Given the description of an element on the screen output the (x, y) to click on. 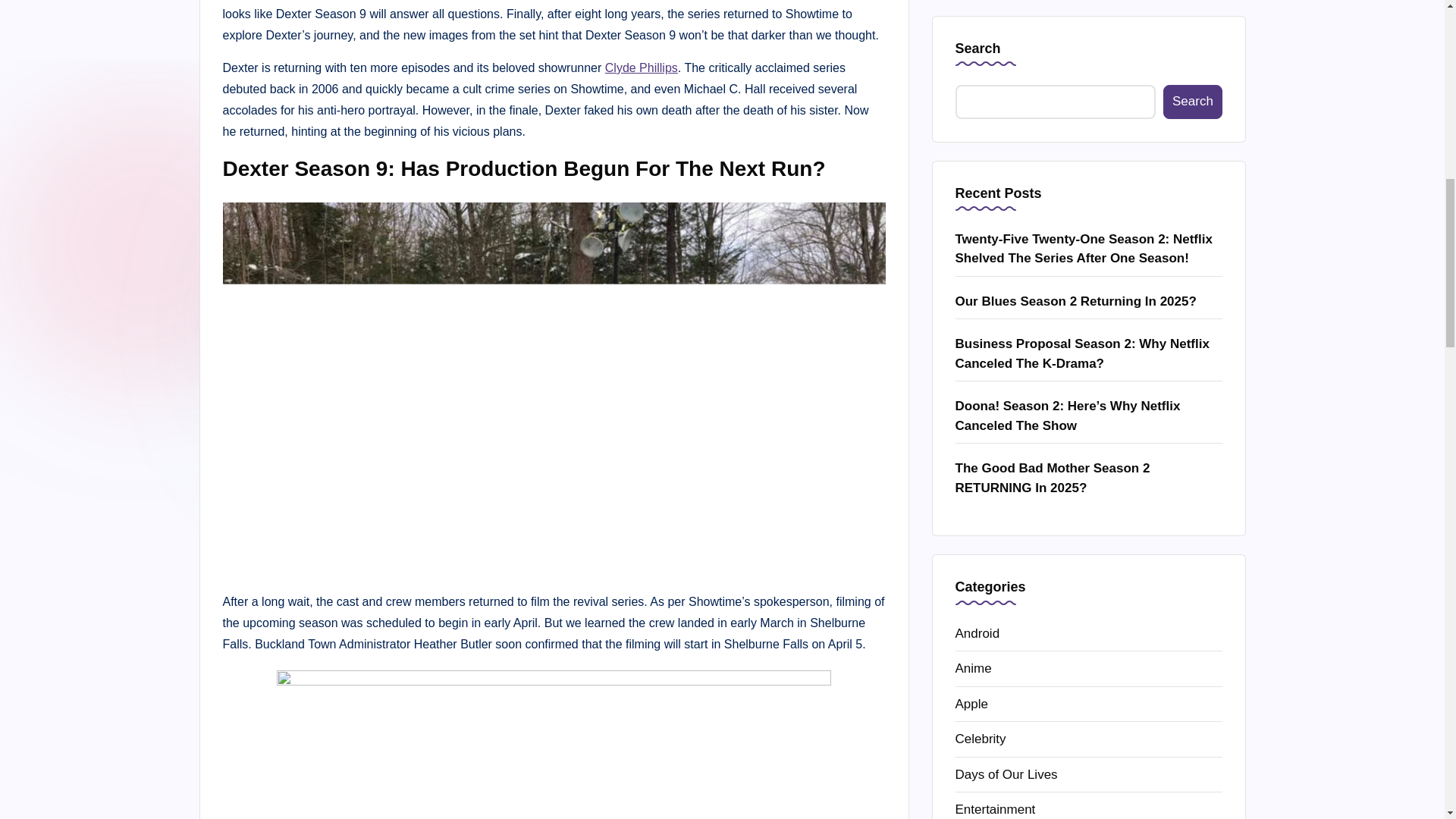
Anime (1089, 21)
Apple (1089, 56)
Clyde Phillips (641, 67)
